Given the description of an element on the screen output the (x, y) to click on. 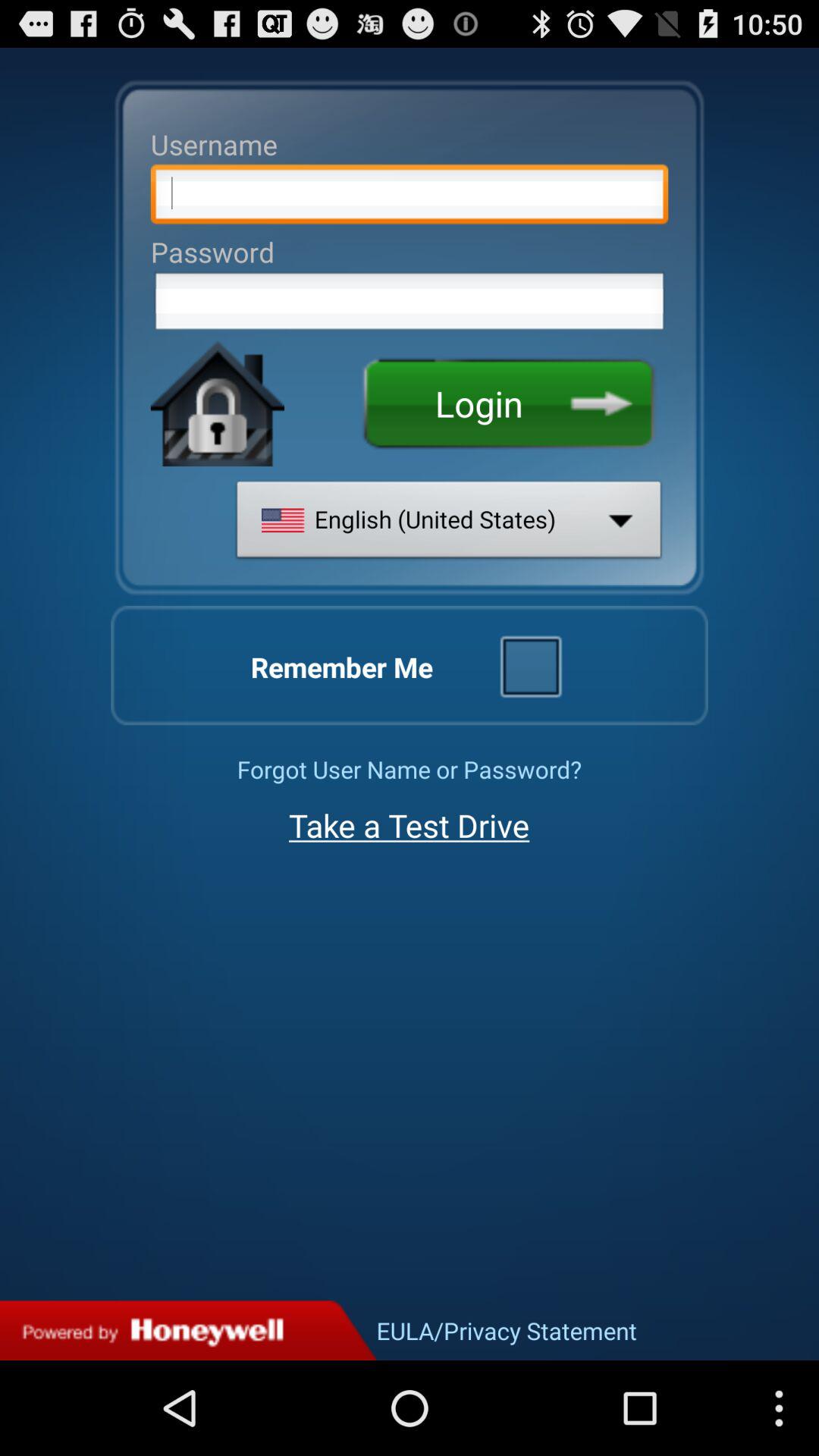
enter password (409, 305)
